Given the description of an element on the screen output the (x, y) to click on. 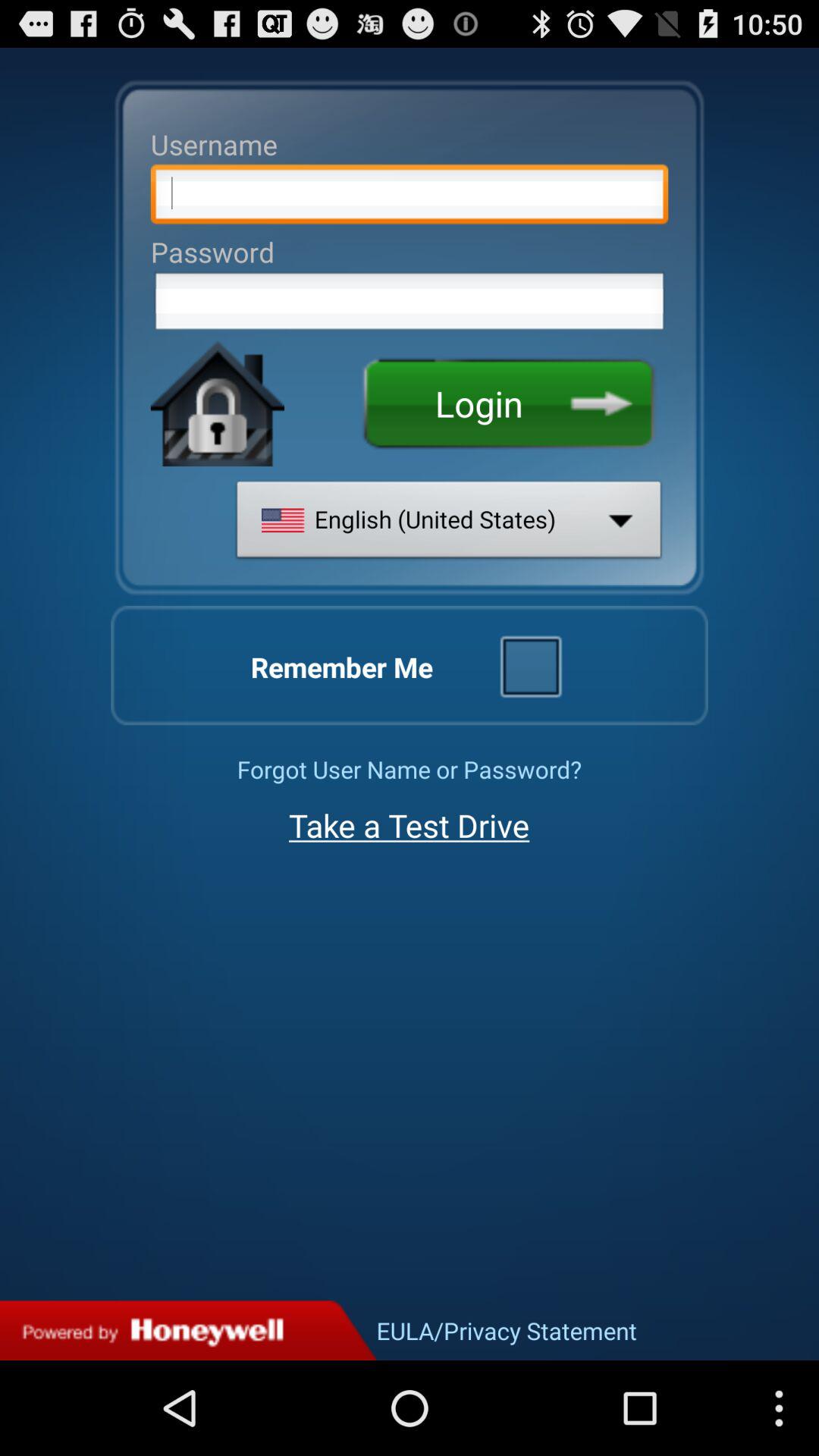
enter password (409, 305)
